Given the description of an element on the screen output the (x, y) to click on. 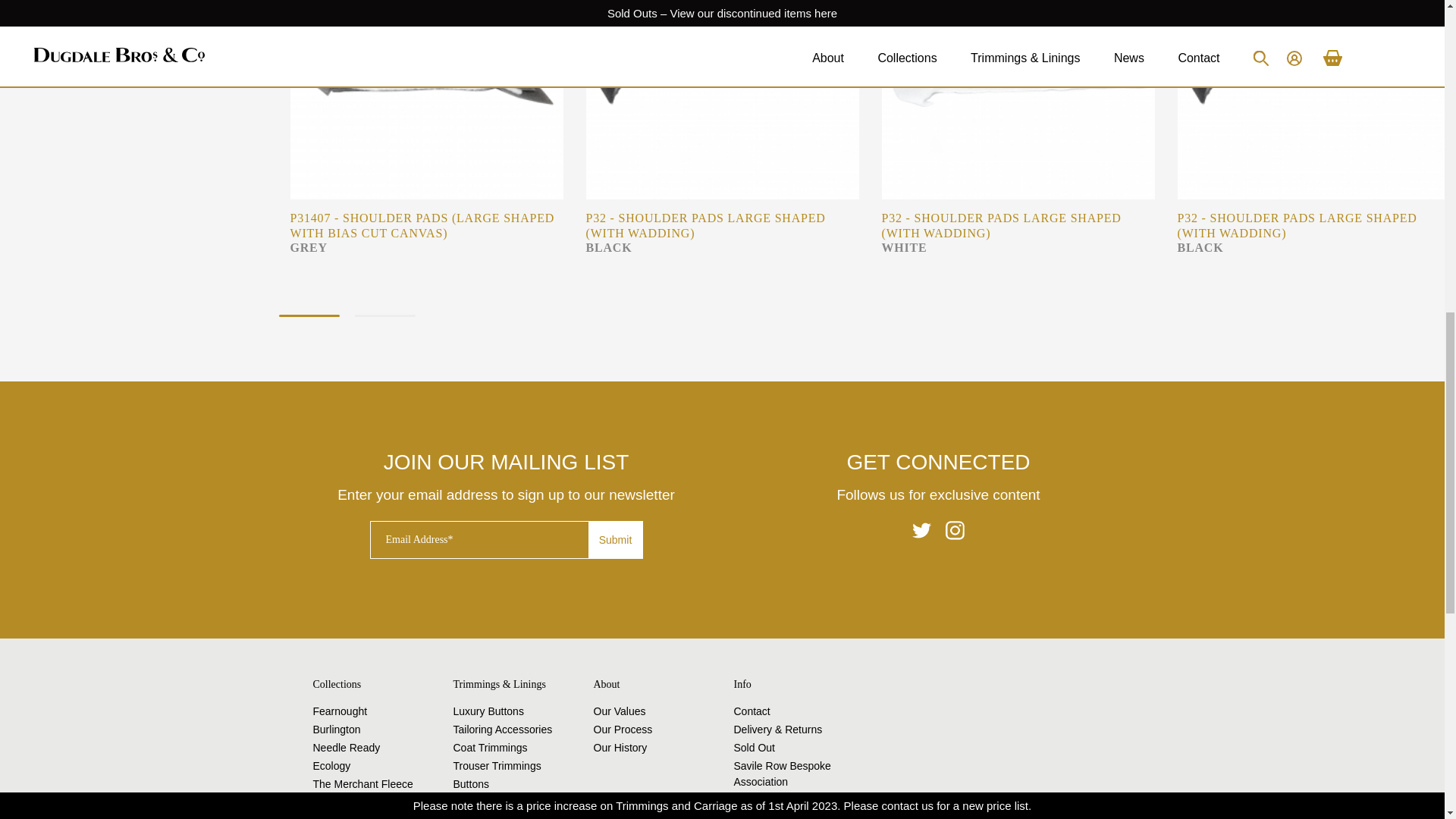
1 (309, 315)
Submit (615, 539)
Instagram (953, 529)
2 (384, 315)
Next (1147, 55)
Twitter (921, 529)
